Given the description of an element on the screen output the (x, y) to click on. 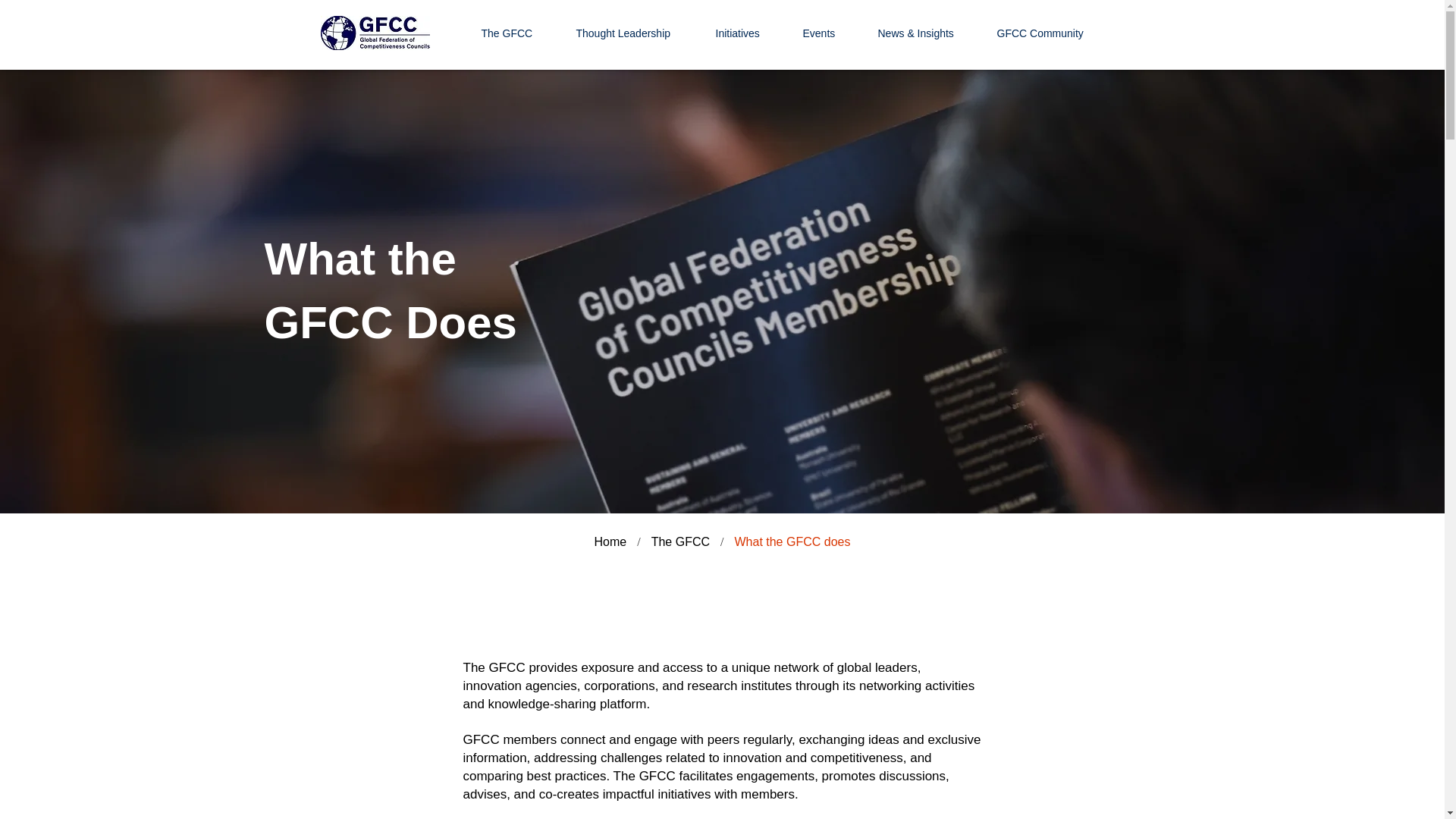
Events (829, 33)
What the GFCC does (791, 542)
The GFCC (680, 542)
Home (610, 542)
